Given the description of an element on the screen output the (x, y) to click on. 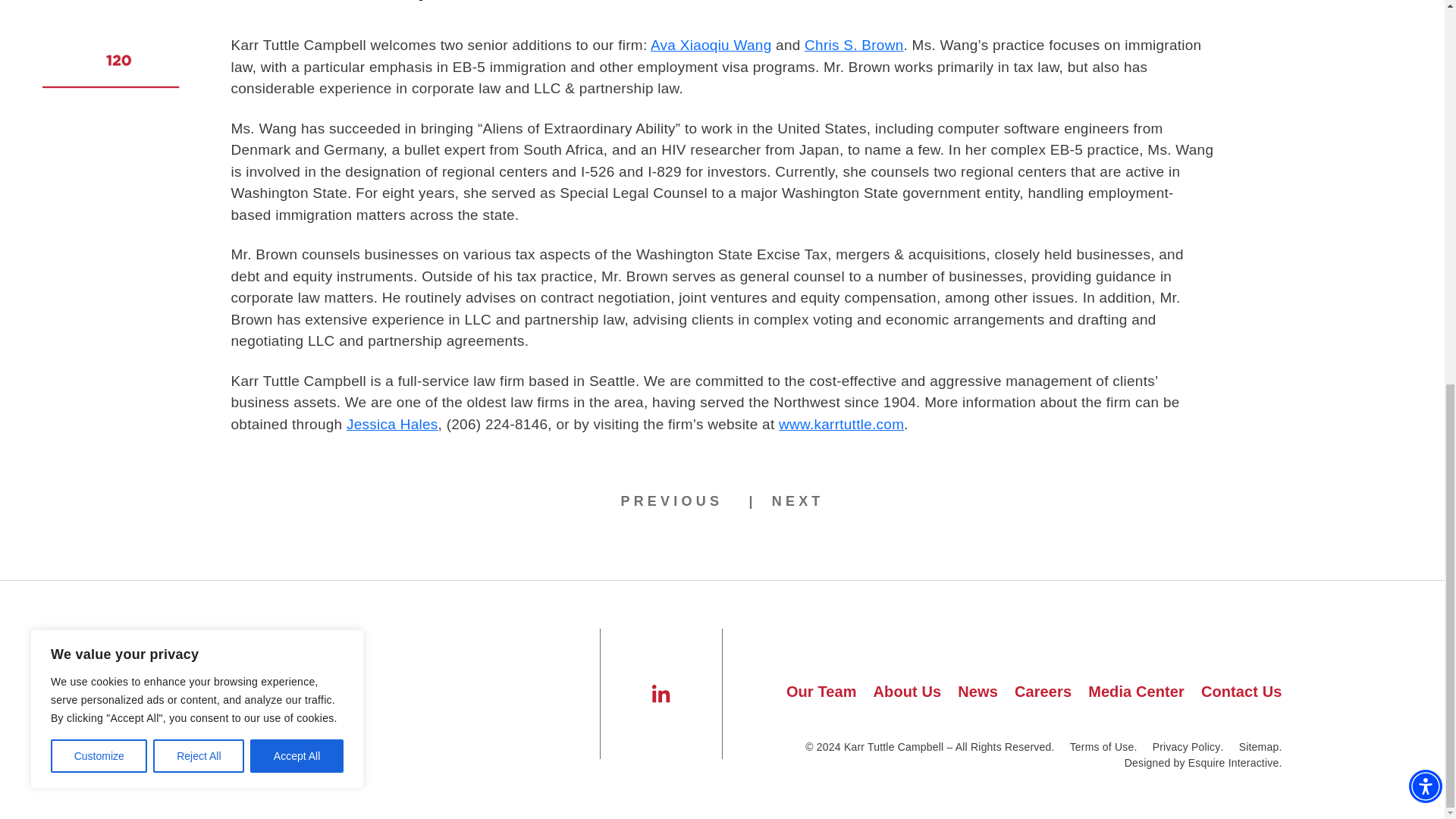
Reject All (198, 34)
Customize (98, 34)
Accessibility Menu (1425, 64)
Accept All (296, 34)
